Given the description of an element on the screen output the (x, y) to click on. 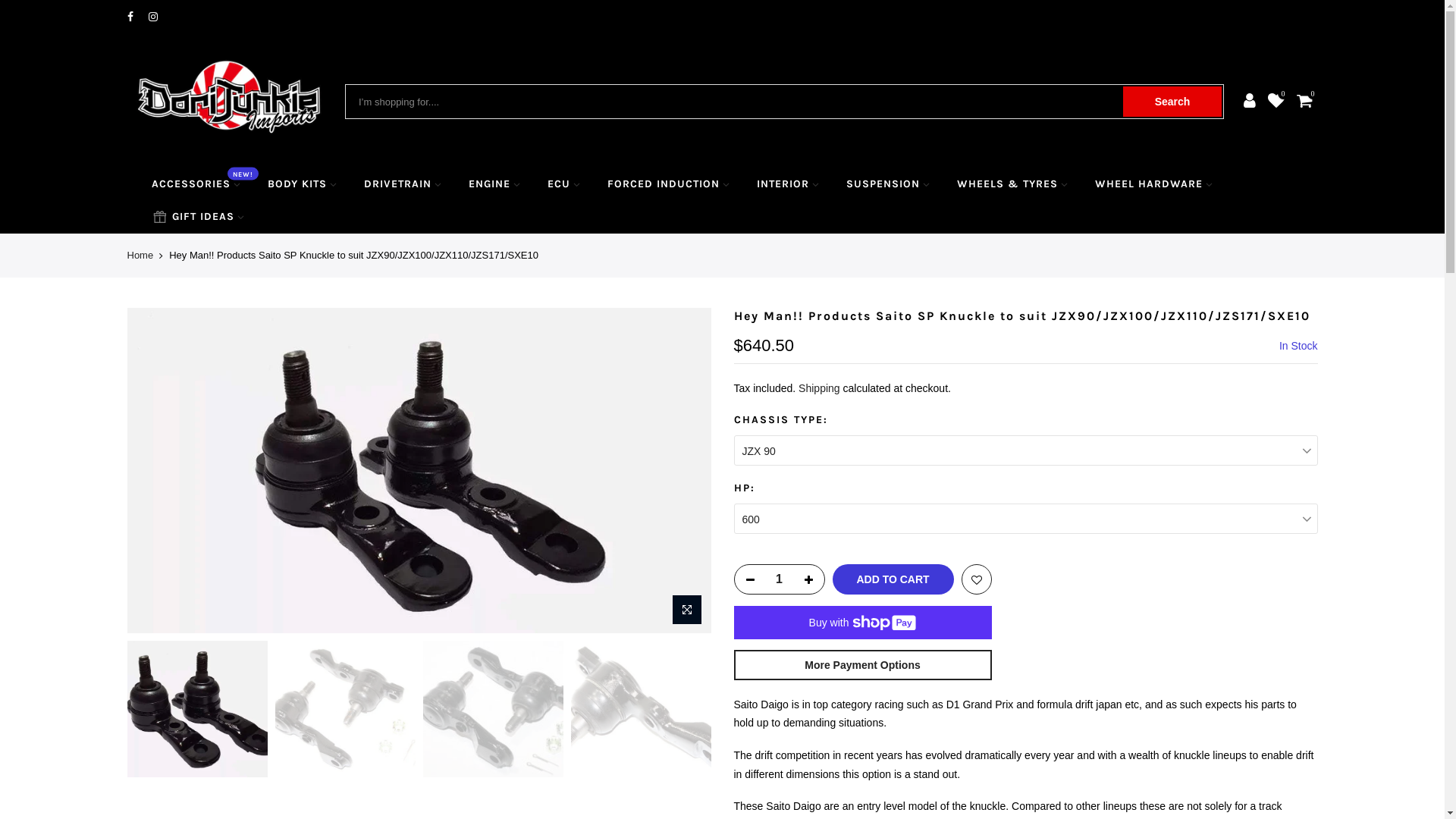
ADD TO CART Element type: text (892, 579)
ACCESSORIES
NEW! Element type: text (196, 184)
More Payment Options Element type: text (862, 664)
ECU Element type: text (563, 184)
SUSPENSION Element type: text (887, 184)
WHEEL HARDWARE Element type: text (1153, 184)
DRIVETRAIN Element type: text (402, 184)
ENGINE Element type: text (494, 184)
WHEELS & TYRES Element type: text (1012, 184)
0 Element type: text (1275, 101)
Home Element type: text (140, 255)
0 Element type: text (1303, 101)
BODY KITS Element type: text (302, 184)
FORCED INDUCTION Element type: text (668, 184)
GIFT IDEAS Element type: text (197, 216)
Search Element type: text (1172, 101)
Shipping Element type: text (819, 388)
INTERIOR Element type: text (787, 184)
